Given the description of an element on the screen output the (x, y) to click on. 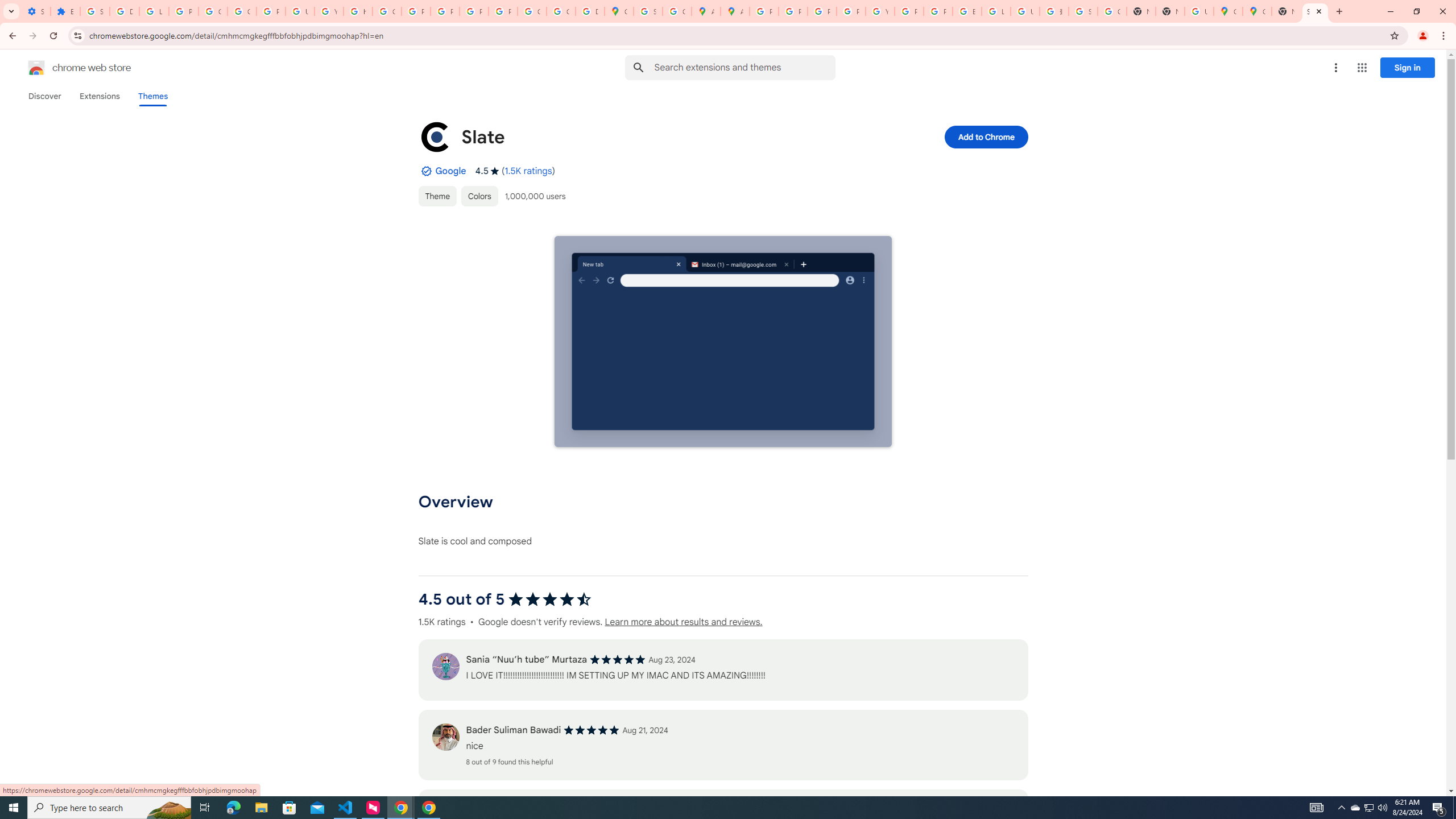
Privacy Help Center - Policies Help (415, 11)
Google Maps (1256, 11)
1.5K ratings (527, 170)
Extensions (99, 95)
Privacy Help Center - Policies Help (821, 11)
Item media 1 screenshot (723, 342)
